Given the description of an element on the screen output the (x, y) to click on. 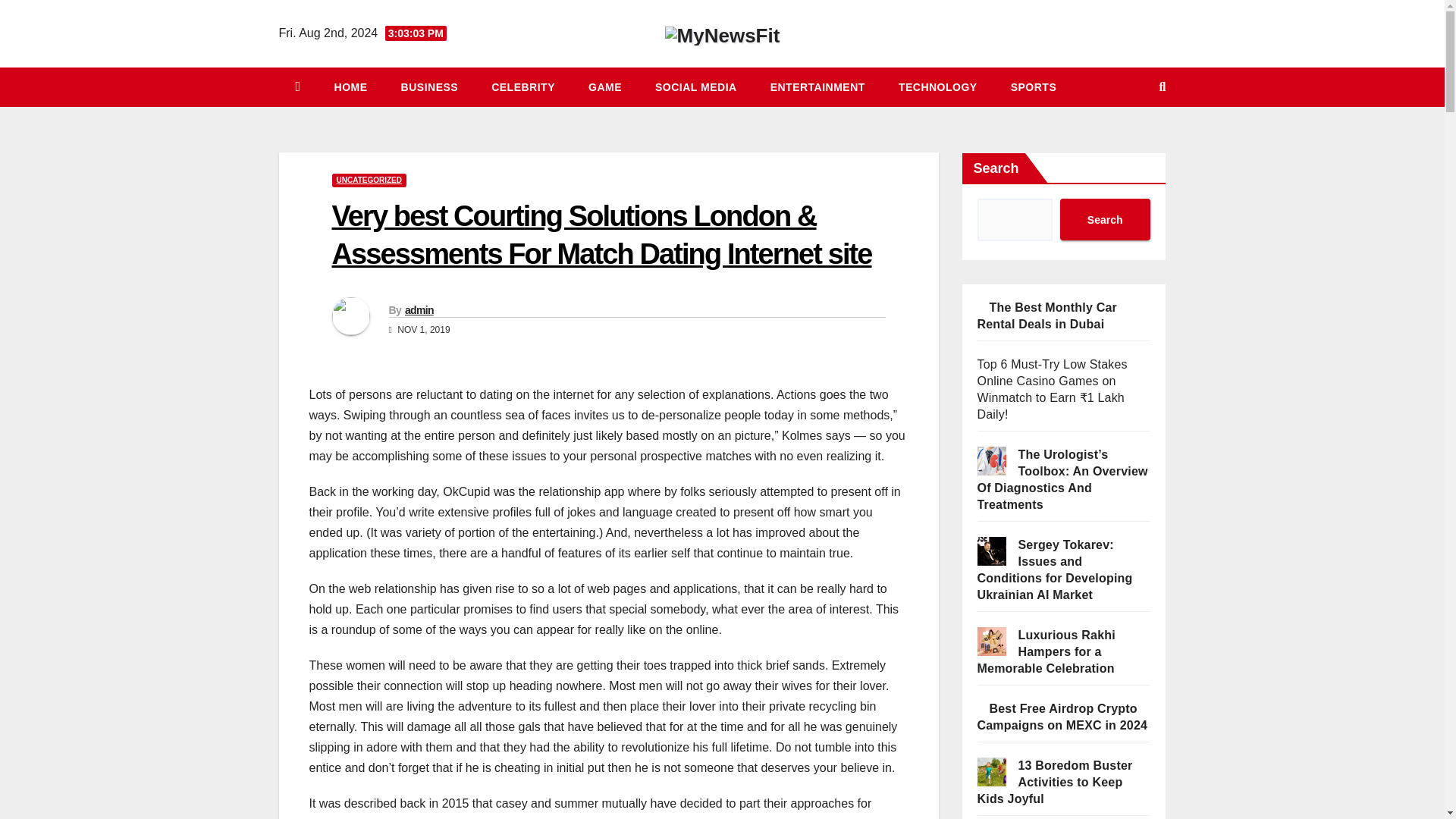
BUSINESS (430, 87)
CELEBRITY (523, 87)
GAME (605, 87)
HOME (350, 87)
Technology (938, 87)
Entertainment (818, 87)
UNCATEGORIZED (368, 180)
Business (430, 87)
Sports (1034, 87)
TECHNOLOGY (938, 87)
admin (418, 309)
SPORTS (1034, 87)
ENTERTAINMENT (818, 87)
Social Media (696, 87)
Game (605, 87)
